Given the description of an element on the screen output the (x, y) to click on. 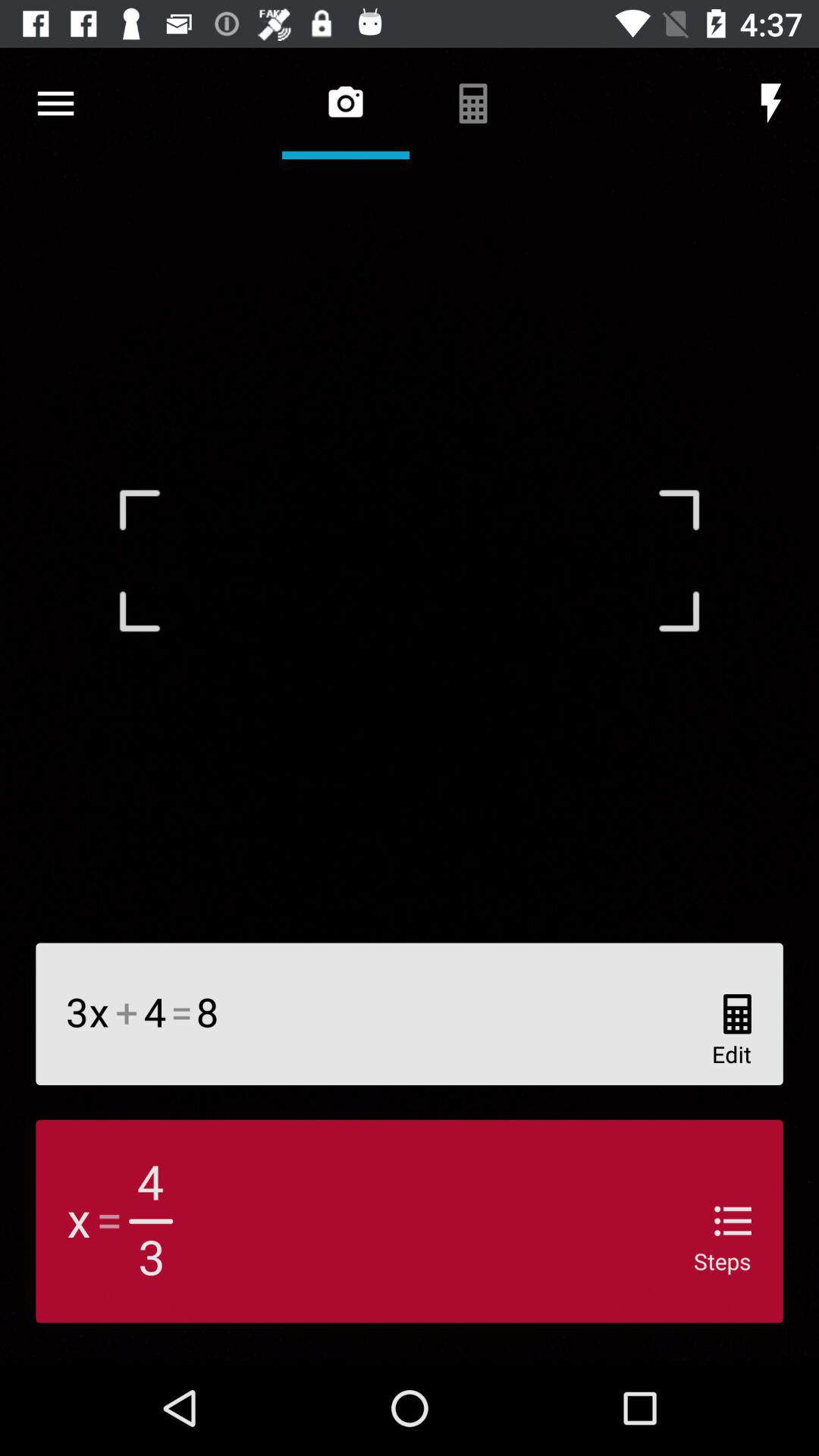
launch item at the top left corner (55, 103)
